Given the description of an element on the screen output the (x, y) to click on. 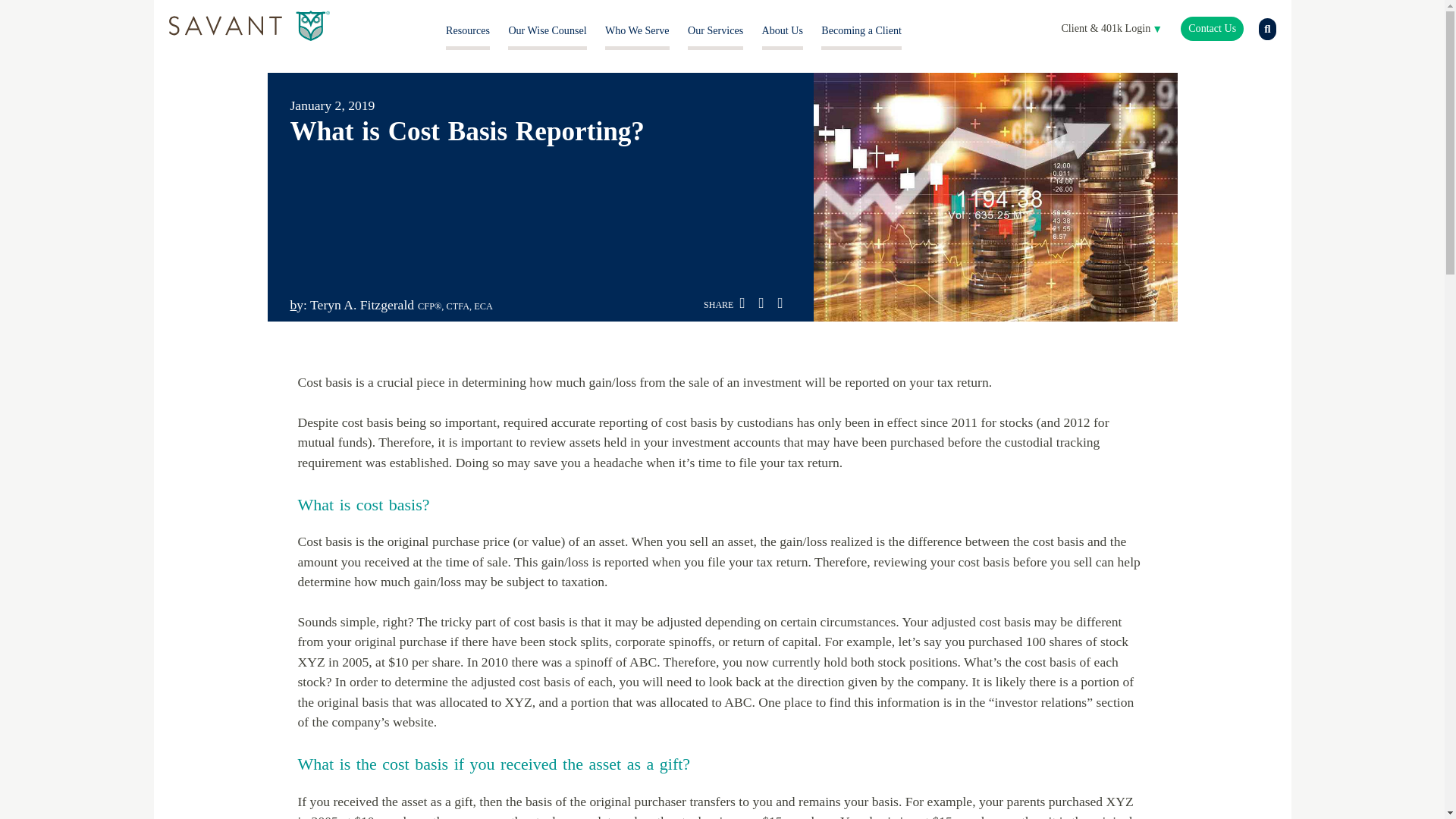
Our Wise Counsel (547, 30)
Resources (467, 30)
About Us (782, 30)
Our Services (714, 30)
Who We Serve (637, 30)
